Given the description of an element on the screen output the (x, y) to click on. 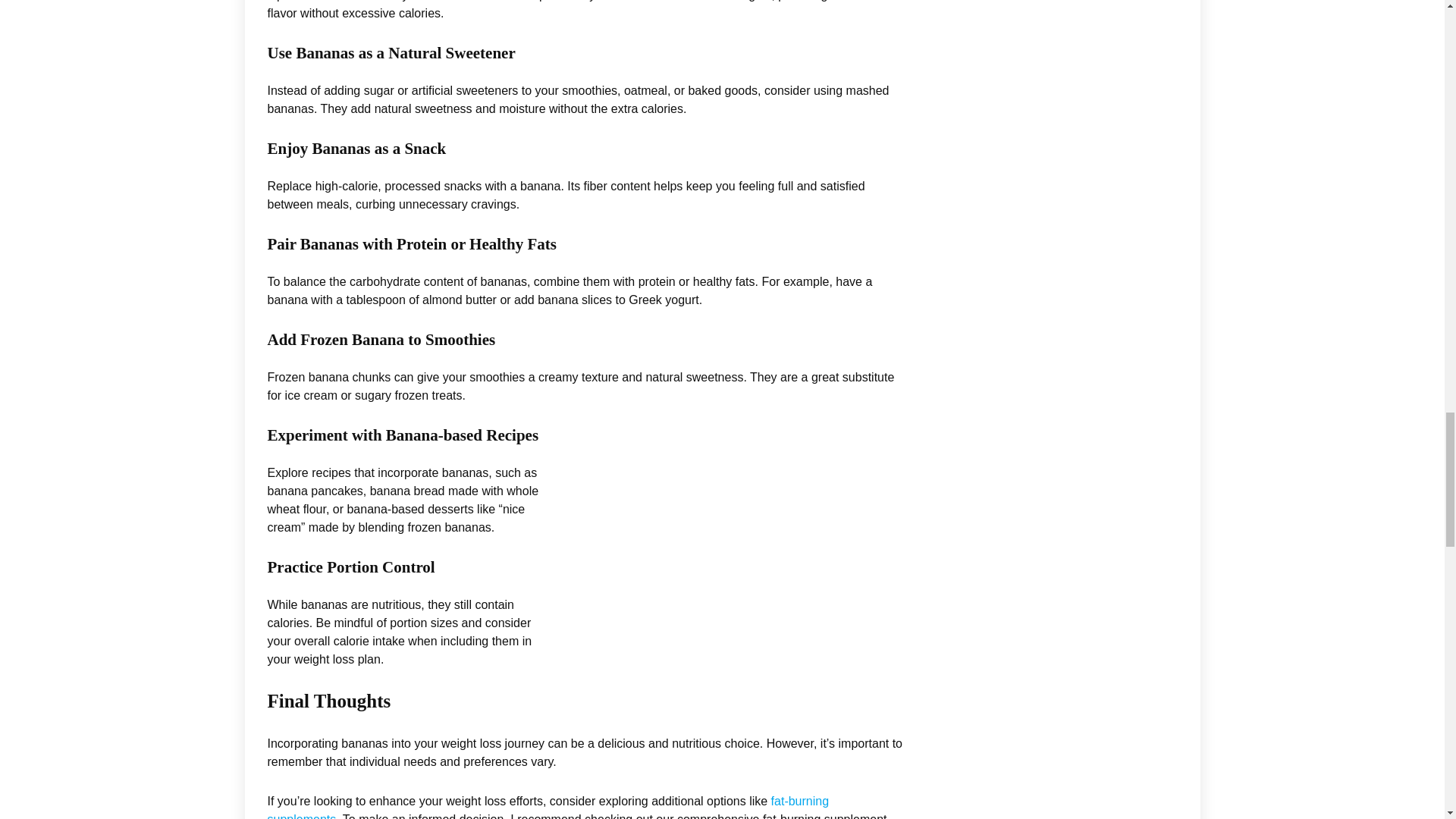
fat-burning supplements (547, 806)
